Given the description of an element on the screen output the (x, y) to click on. 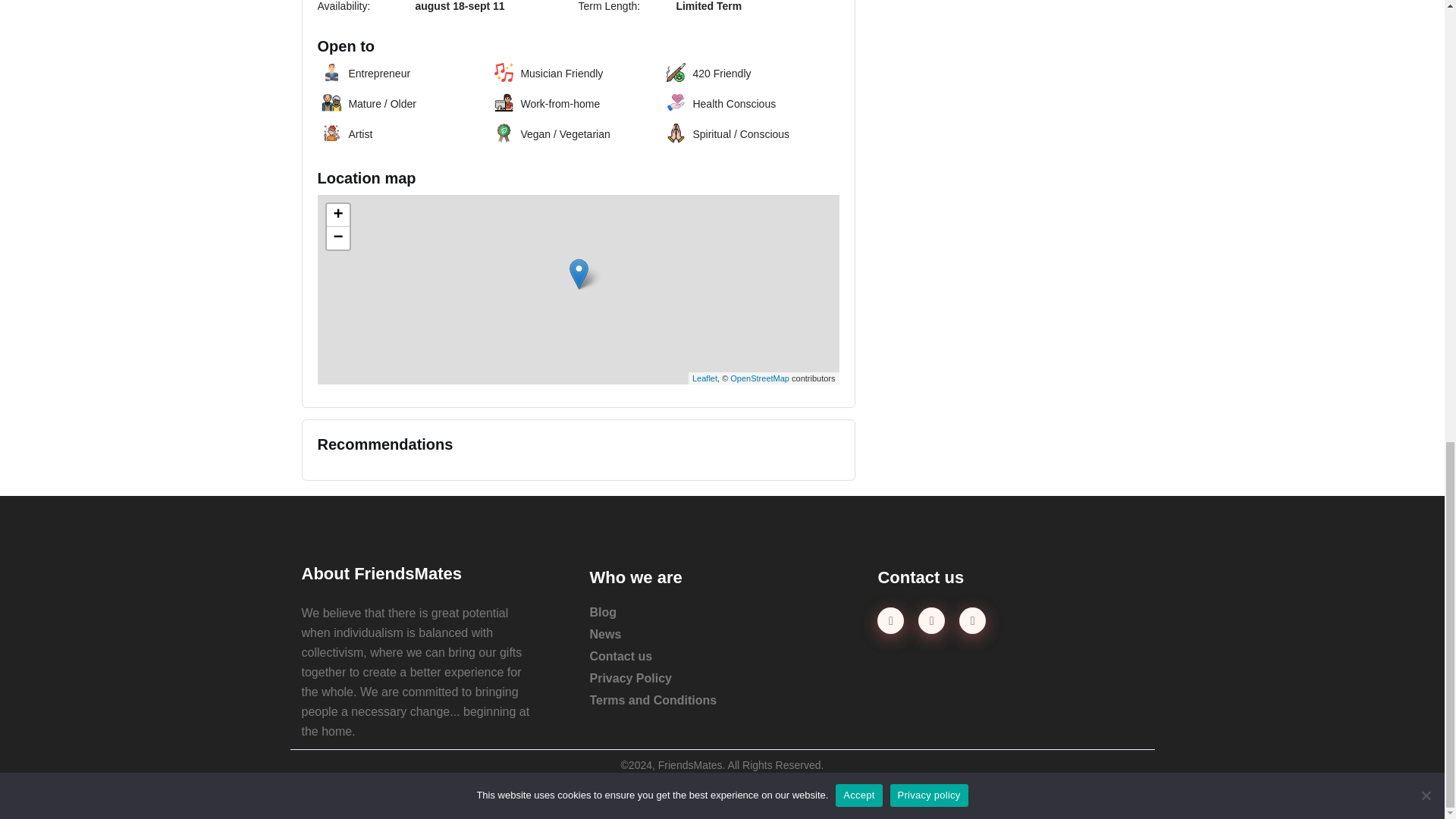
A JS library for interactive maps (705, 378)
Leaflet (705, 378)
Zoom in (337, 214)
Zoom out (337, 237)
OpenStreetMap (759, 378)
